Given the description of an element on the screen output the (x, y) to click on. 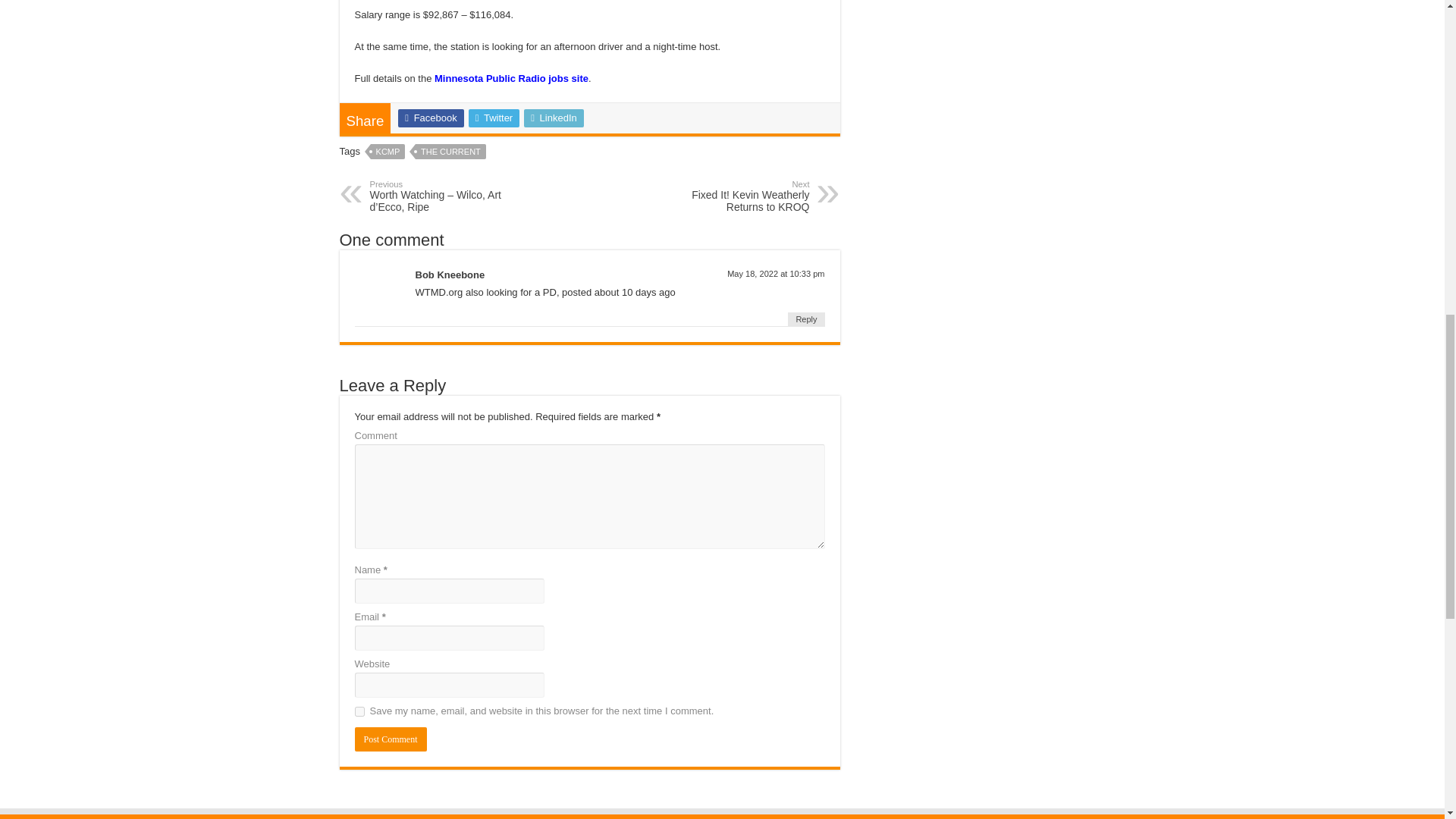
May 18, 2022 at 10:33 pm (775, 273)
Facebook (430, 117)
yes (731, 195)
Minnesota Public Radio jobs site (360, 711)
Twitter (510, 78)
THE CURRENT (493, 117)
LinkedIn (450, 151)
KCMP (553, 117)
Post Comment (388, 151)
